Given the description of an element on the screen output the (x, y) to click on. 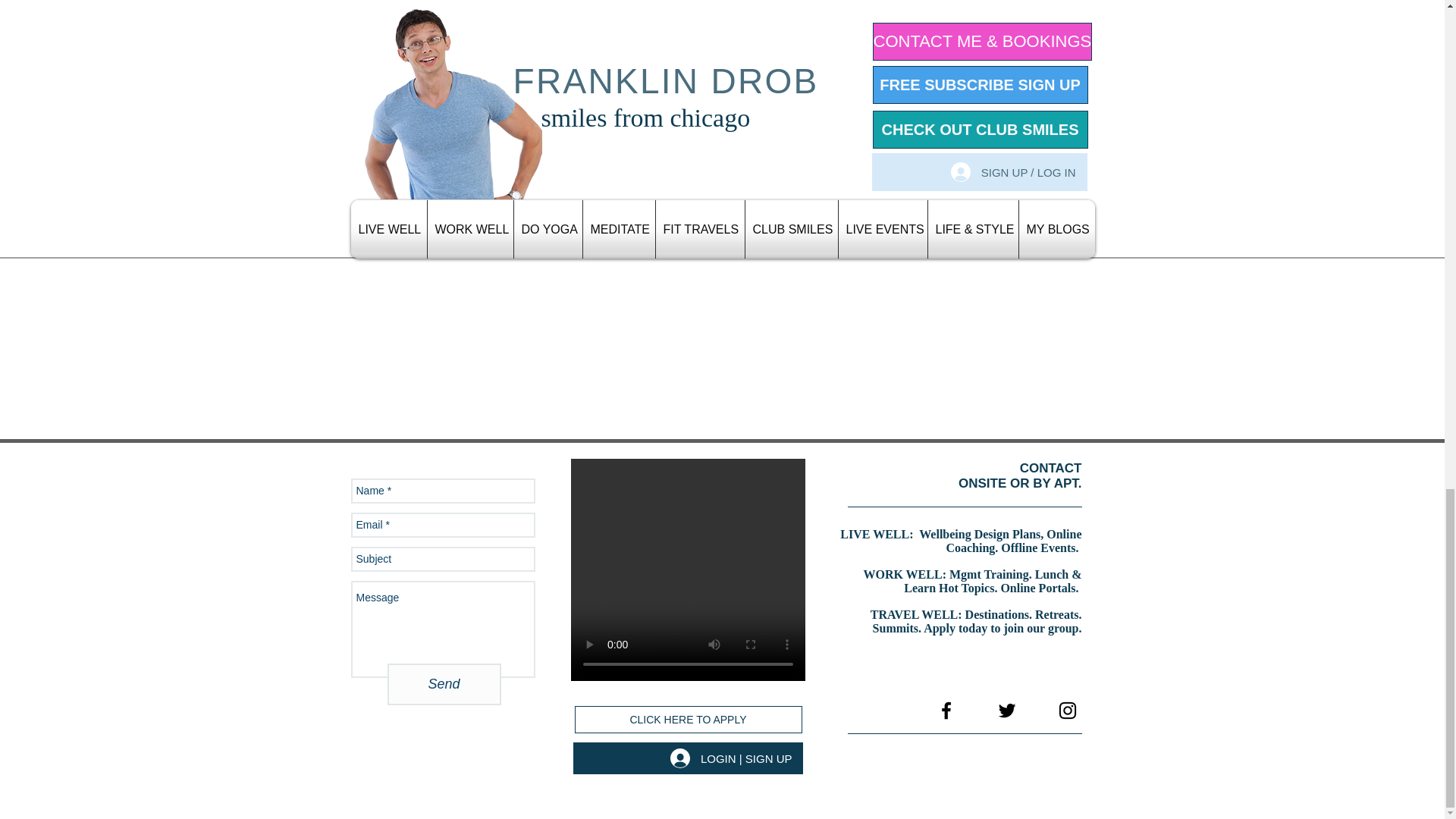
Send (443, 684)
CLICK HERE TO APPLY (688, 719)
